Given the description of an element on the screen output the (x, y) to click on. 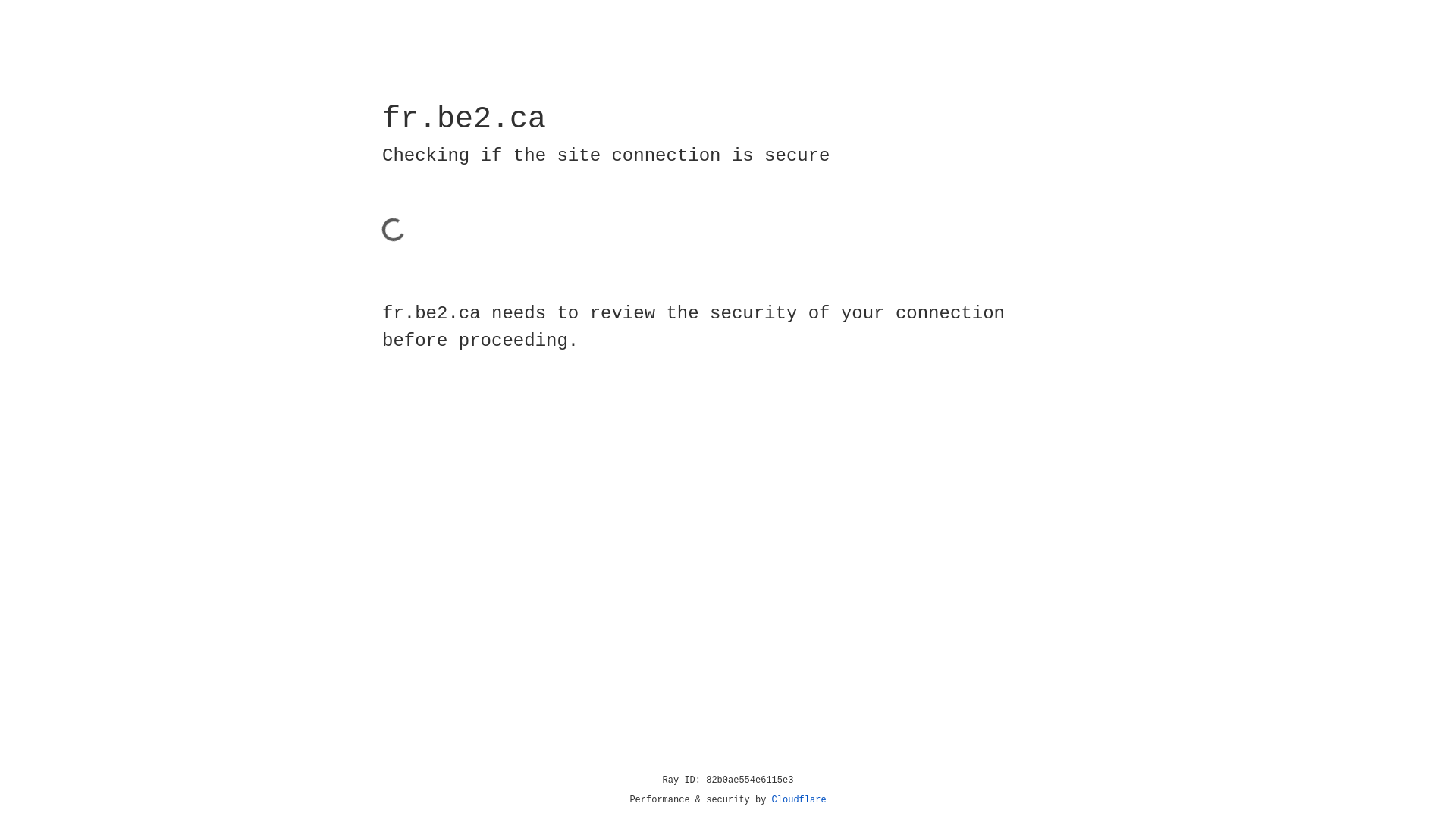
Cloudflare Element type: text (798, 799)
